Given the description of an element on the screen output the (x, y) to click on. 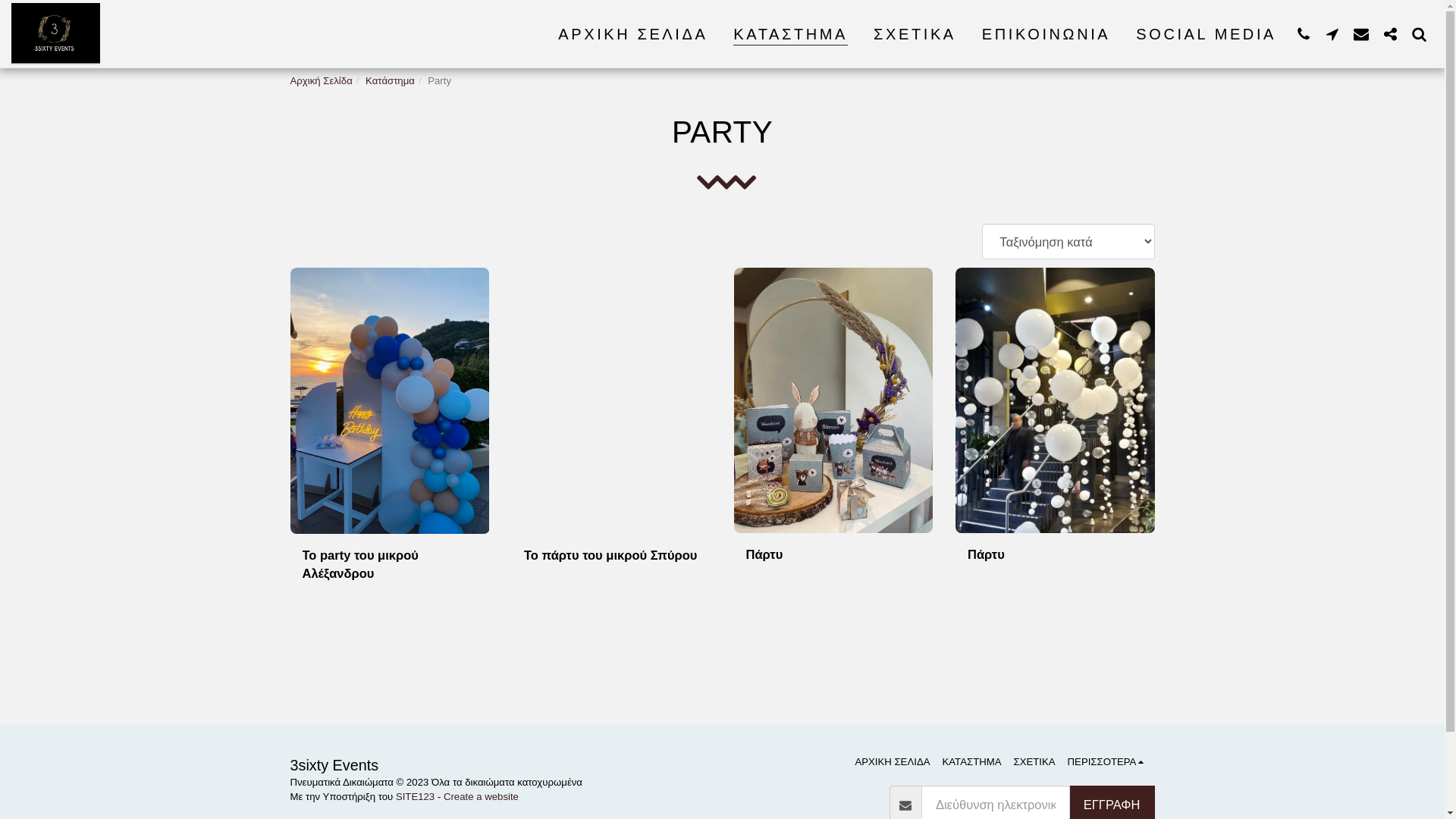
SOCIAL MEDIA Element type: text (1205, 34)
  Element type: text (1360, 33)
Create a website Element type: text (480, 796)
  Element type: text (1389, 33)
  Element type: text (1418, 33)
SITE123 Element type: text (414, 796)
  Element type: text (1303, 33)
  Element type: text (1332, 33)
